Given the description of an element on the screen output the (x, y) to click on. 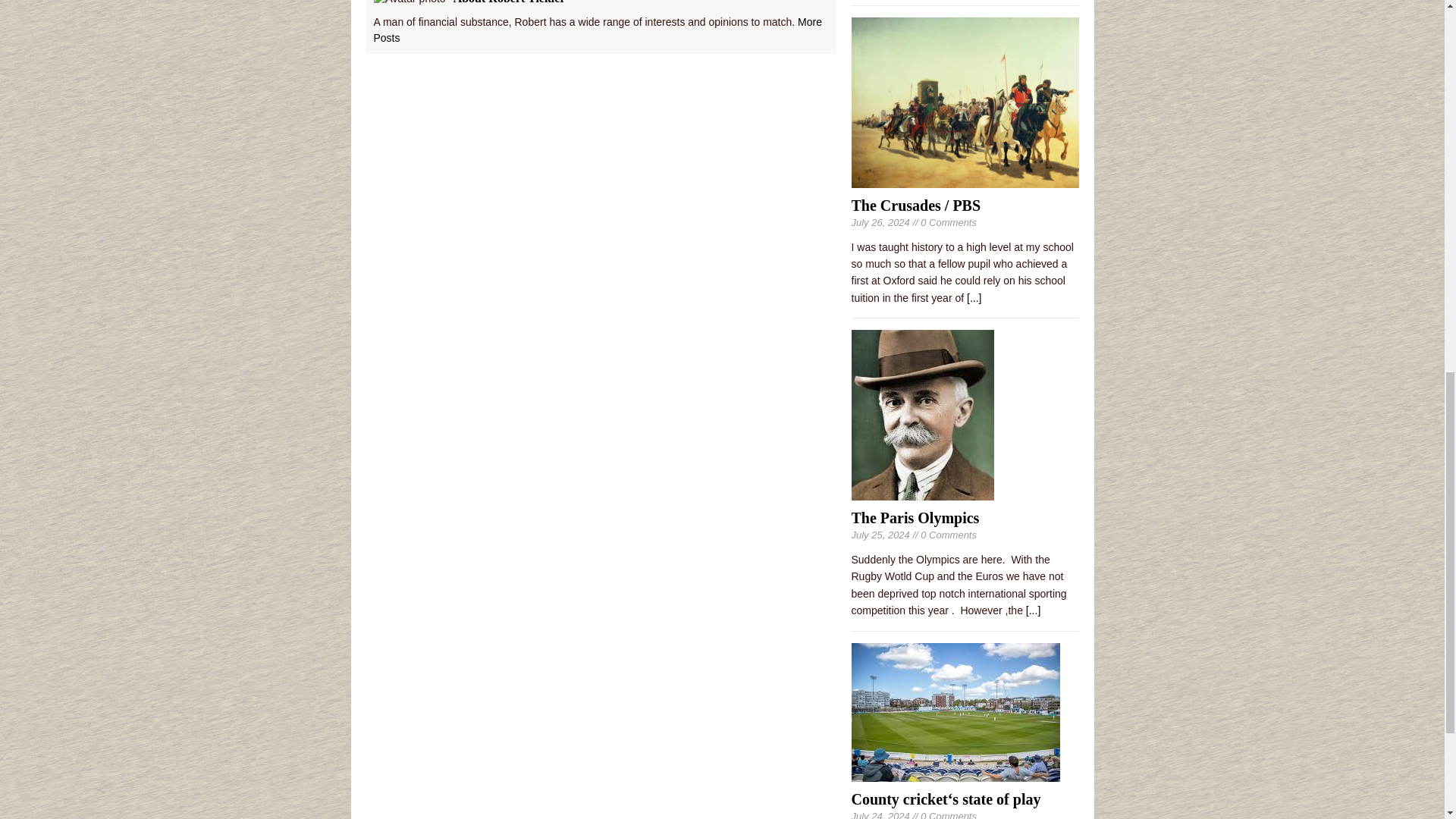
More articles written by Robert Tickler (596, 29)
The Paris Olympics (914, 517)
The Paris Olympics (921, 491)
The Paris Olympics (1033, 610)
